Given the description of an element on the screen output the (x, y) to click on. 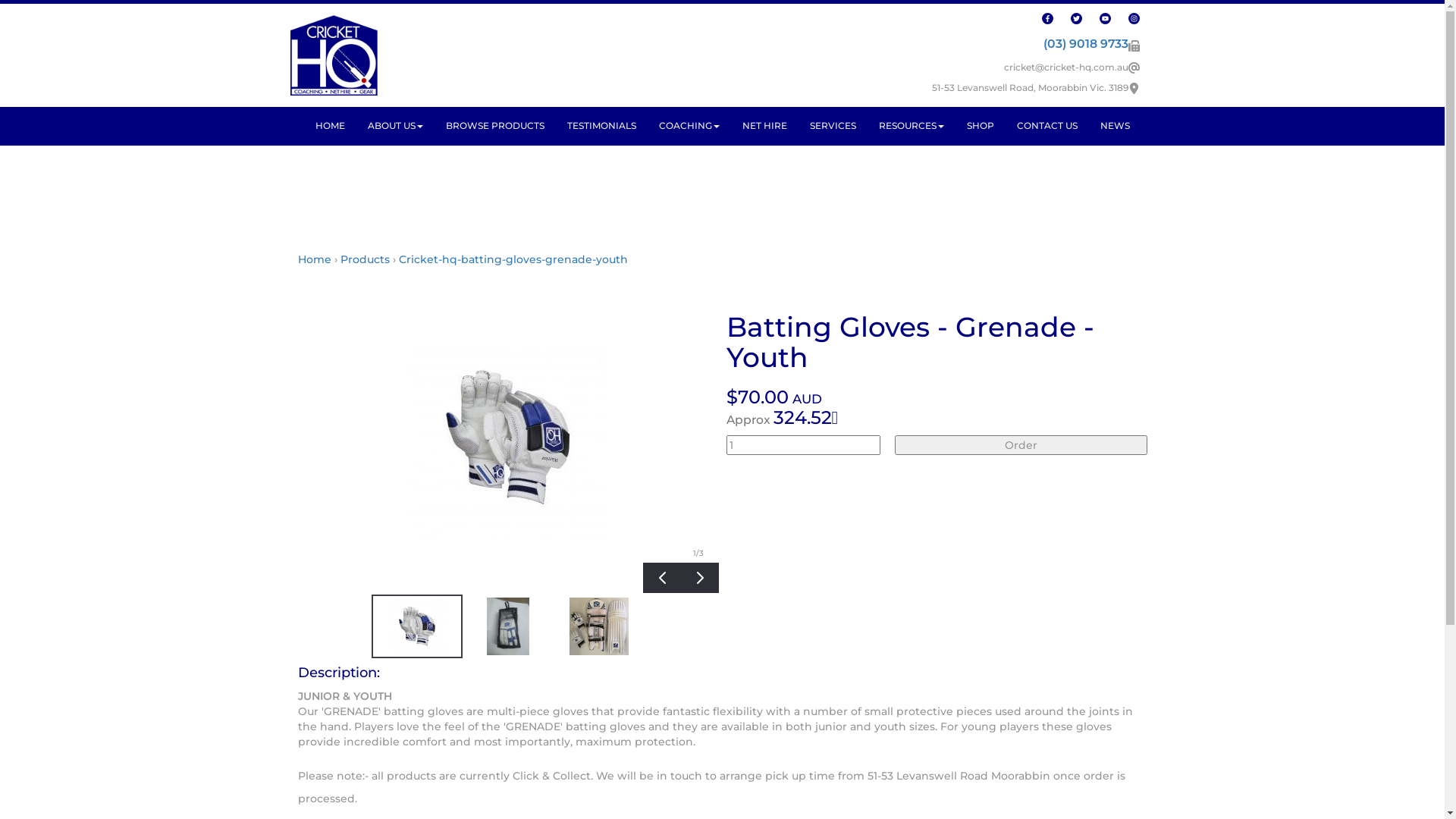
TESTIMONIALS Element type: text (600, 125)
Home Element type: text (313, 259)
NEWS Element type: text (1114, 125)
RESOURCES Element type: text (911, 125)
cricket@cricket-hq.com.au Element type: text (1066, 66)
NET HIRE Element type: text (764, 125)
CONTACT US Element type: text (1046, 125)
SERVICES Element type: text (831, 125)
HOME Element type: text (329, 125)
Cricket-hq-batting-gloves-grenade-youth Element type: text (512, 259)
COACHING Element type: text (689, 125)
SHOP Element type: text (980, 125)
Products Element type: text (364, 259)
BROWSE PRODUCTS Element type: text (494, 125)
ABOUT US Element type: text (395, 125)
Order Element type: text (1020, 445)
(03) 9018 9733 Element type: text (1085, 43)
